Given the description of an element on the screen output the (x, y) to click on. 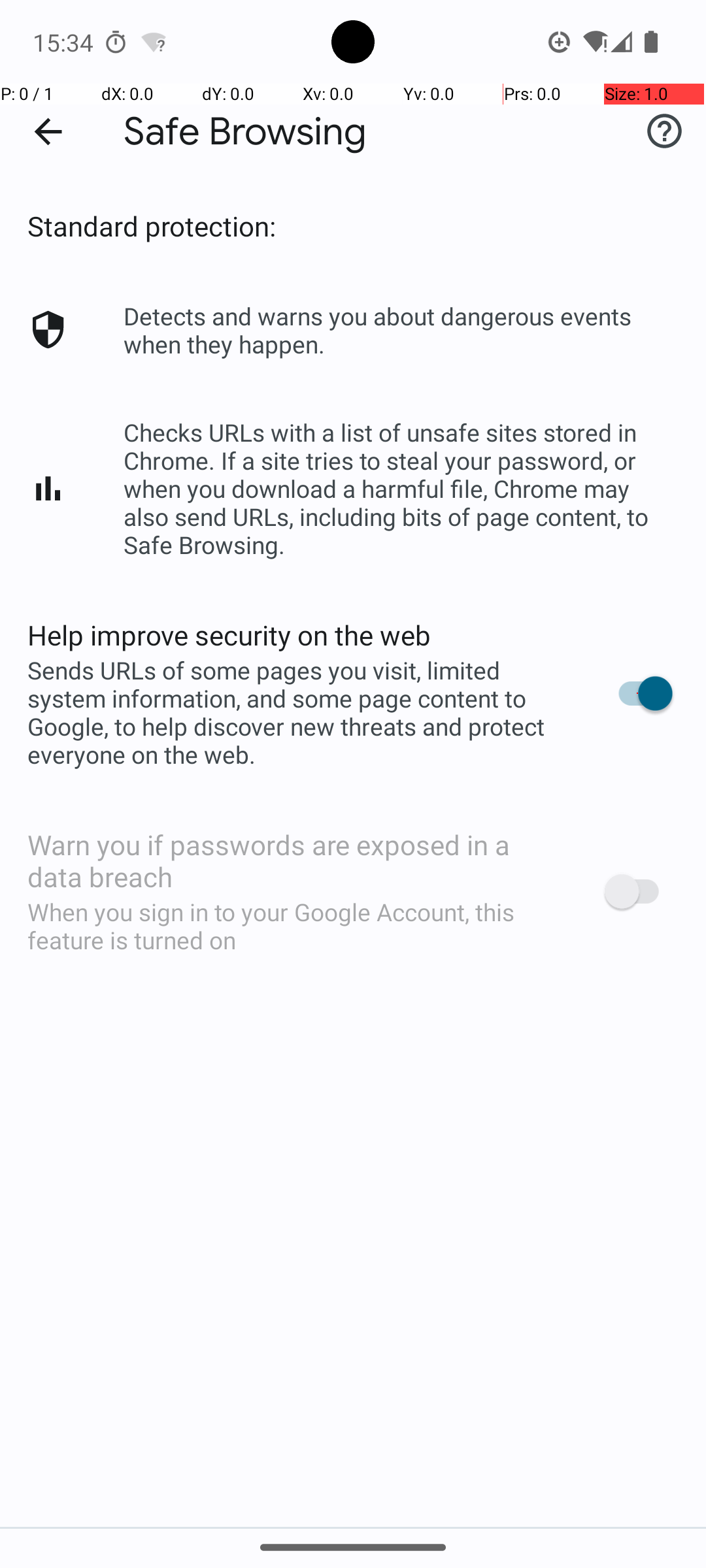
Standard protection: Element type: android.widget.TextView (151, 225)
Detects and warns you about dangerous events when they happen. Element type: android.widget.TextView (400, 329)
Checks URLs with a list of unsafe sites stored in Chrome. If a site tries to steal your password, or when you download a harmful file, Chrome may also send URLs, including bits of page content, to Safe Browsing. Element type: android.widget.TextView (400, 488)
Help improve security on the web Element type: android.widget.TextView (229, 634)
Sends URLs of some pages you visit, limited system information, and some page content to Google, to help discover new threats and protect everyone on the web. Element type: android.widget.TextView (297, 711)
Warn you if passwords are exposed in a data breach Element type: android.widget.TextView (297, 860)
When you sign in to your Google Account, this feature is turned on Element type: android.widget.TextView (297, 925)
